Given the description of an element on the screen output the (x, y) to click on. 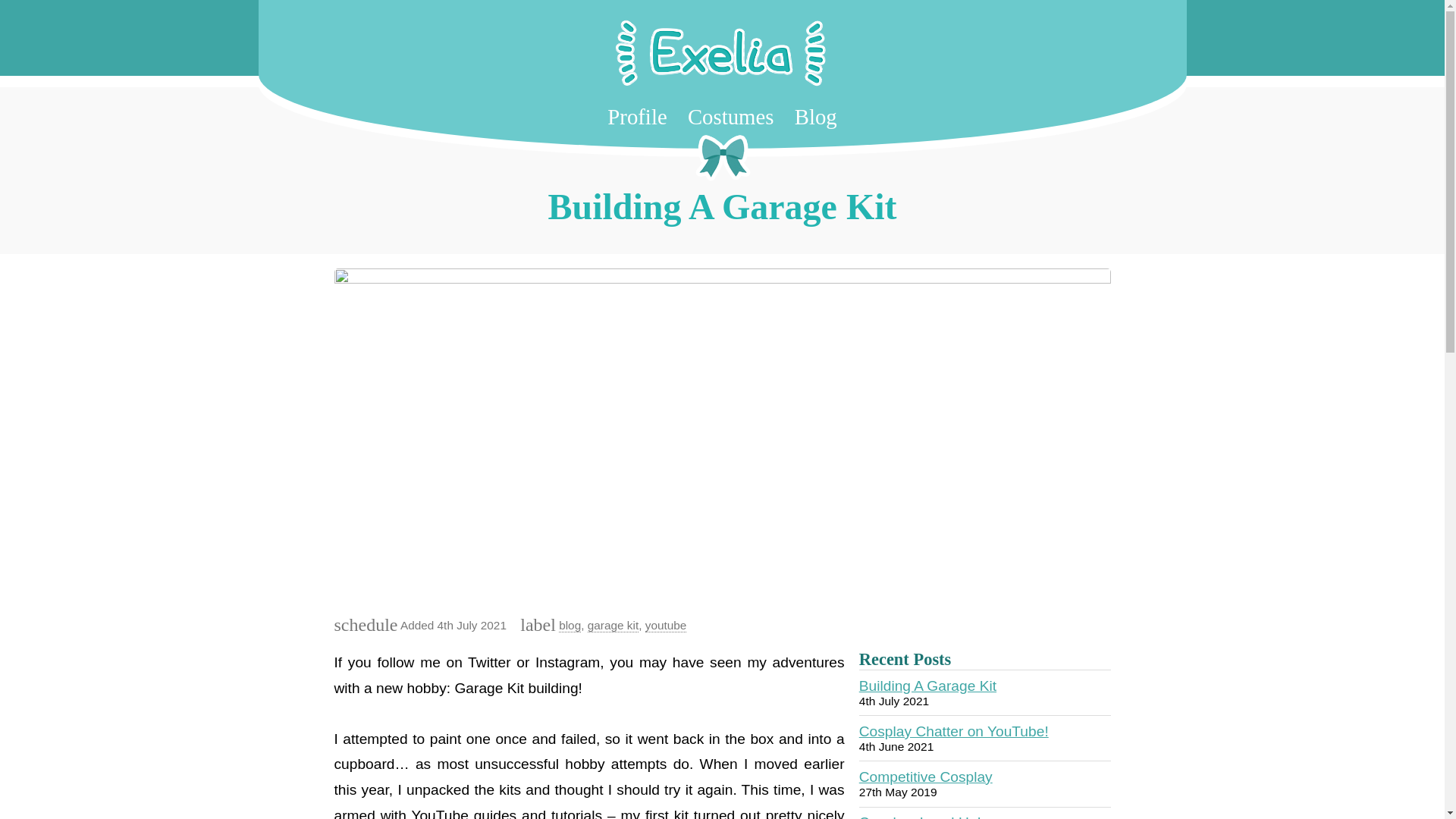
Profile (636, 116)
Building A Garage Kit (927, 685)
Blog (815, 116)
Costumes (730, 116)
Cosplay Chatter on YouTube! (953, 731)
garage kit (613, 625)
blog (569, 625)
youtube (666, 625)
Cosplay: Level Up! (920, 816)
Competitive Cosplay (925, 776)
